Given the description of an element on the screen output the (x, y) to click on. 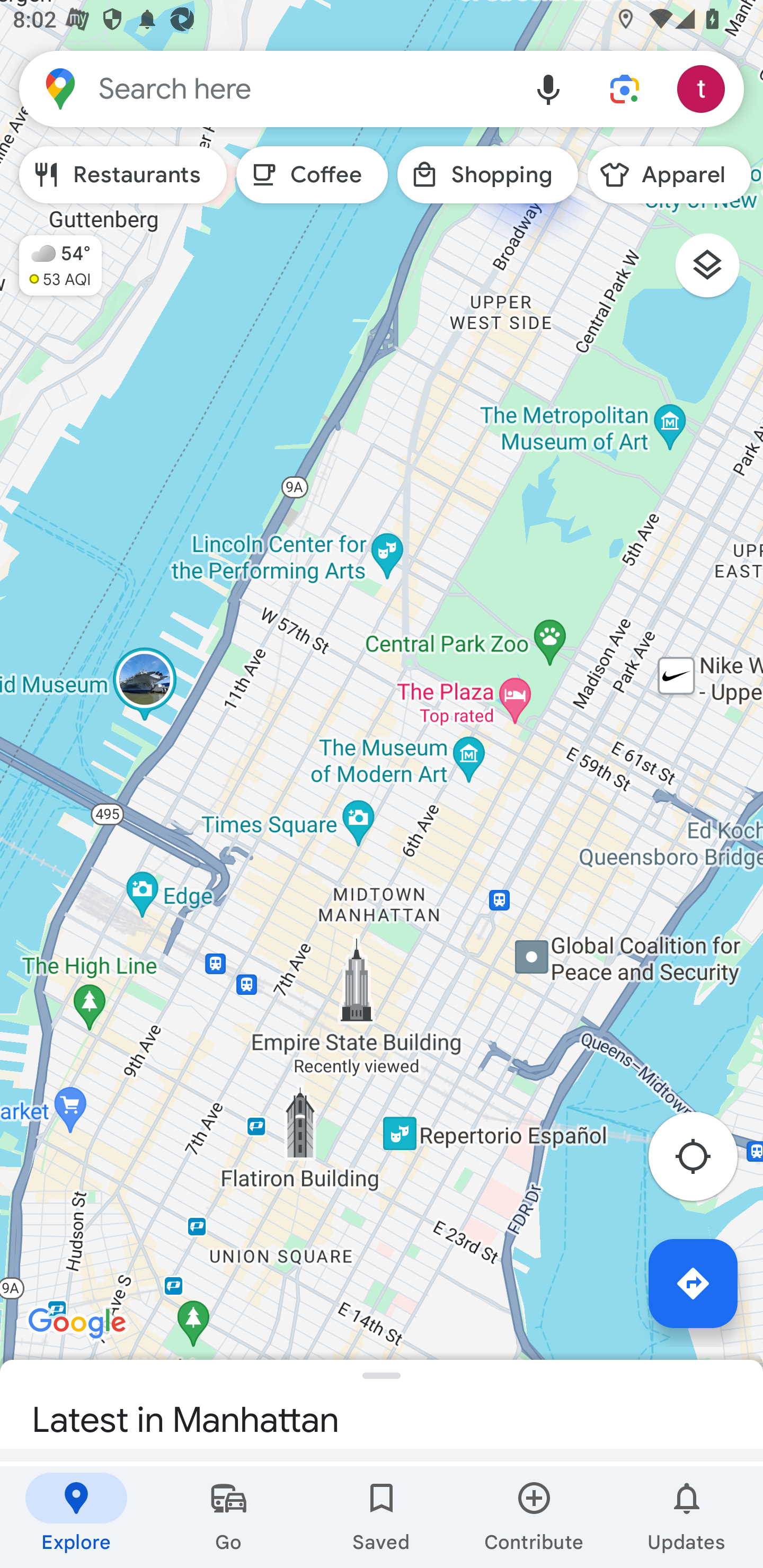
Search here (264, 88)
Voice search (548, 88)
Lens in Maps (624, 88)
Restaurants Search for Restaurants (122, 174)
Coffee Search for Coffee (311, 174)
Shopping Search for Shopping (487, 174)
Apparel Search for Apparel (669, 174)
Cloudy, 54°, Moderate, 53 AQI 54° 53 AQI (50, 257)
Layers (716, 271)
Re-center map to your location (702, 1161)
Directions (692, 1283)
Go (228, 1517)
Saved (381, 1517)
Contribute (533, 1517)
Updates (686, 1517)
